Given the description of an element on the screen output the (x, y) to click on. 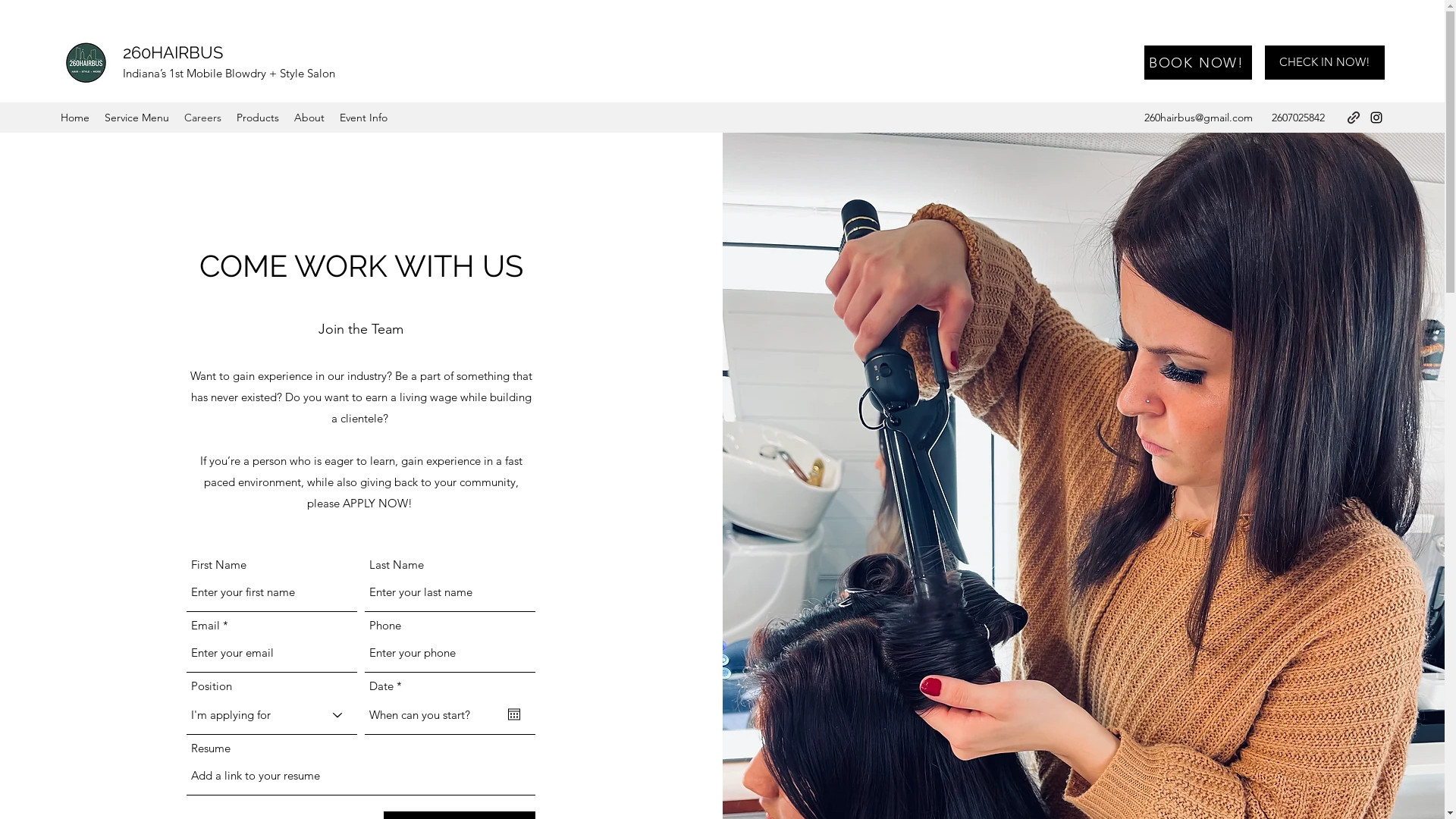
About Element type: text (309, 117)
BOOK NOW! Element type: text (1198, 62)
260hairbus@gmail.com Element type: text (1198, 117)
Home Element type: text (75, 117)
Event Info Element type: text (363, 117)
Service Menu Element type: text (136, 117)
260HAIRBUS Element type: text (172, 52)
Careers Element type: text (202, 117)
CHECK IN NOW! Element type: text (1324, 62)
Products Element type: text (257, 117)
